Given the description of an element on the screen output the (x, y) to click on. 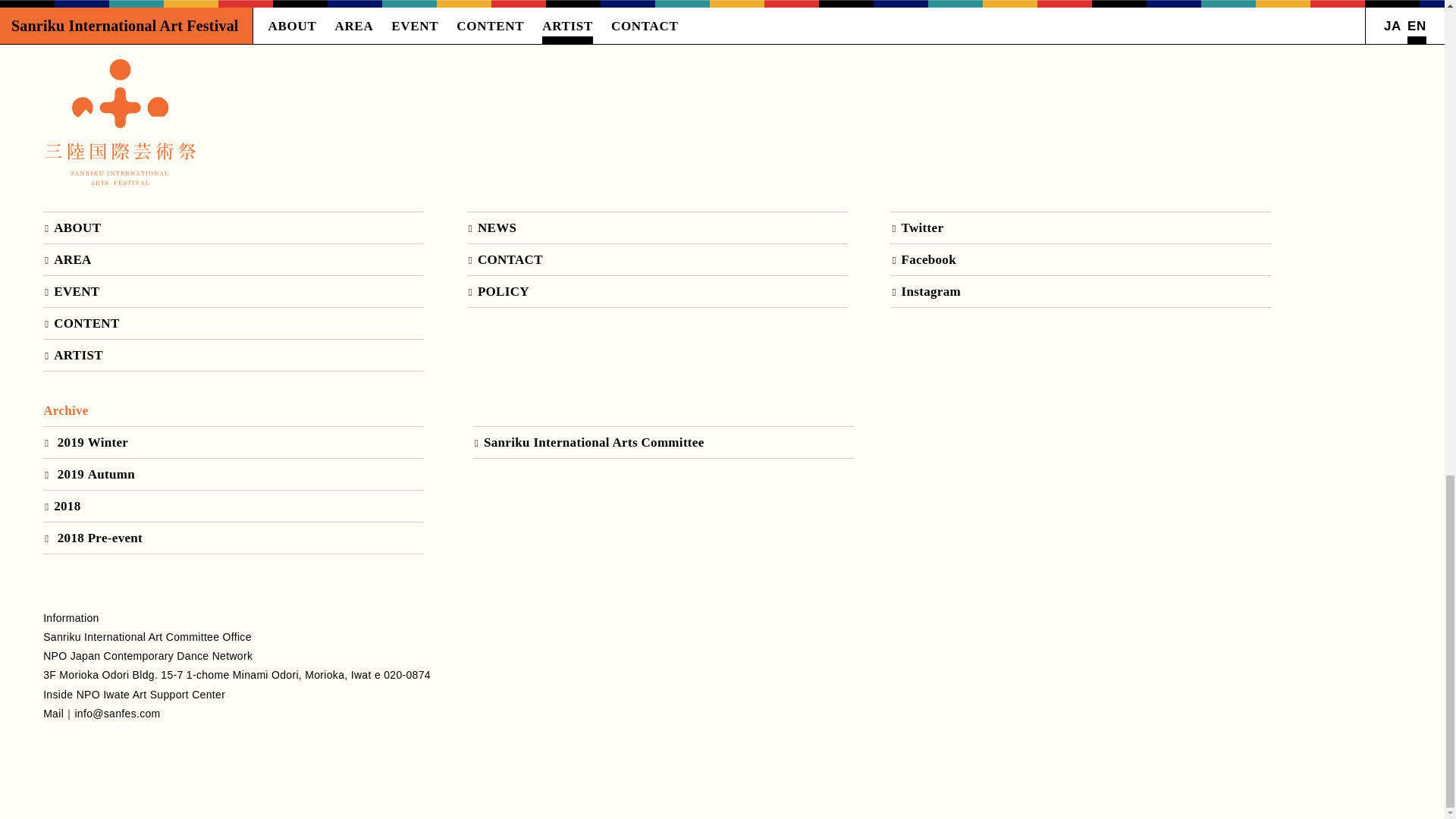
2019 Winter (233, 441)
CONTACT (657, 259)
Instagram (1080, 291)
Twitter (1080, 227)
2018 (233, 505)
2019 Autumn (233, 473)
CONTENT (233, 323)
Facebook (1080, 259)
Sanriku International Arts Committee (663, 441)
AREA (233, 259)
ABOUT (233, 227)
POLICY (657, 291)
2018 Pre-event (233, 537)
ARTIST (233, 355)
EVENT (233, 291)
